Given the description of an element on the screen output the (x, y) to click on. 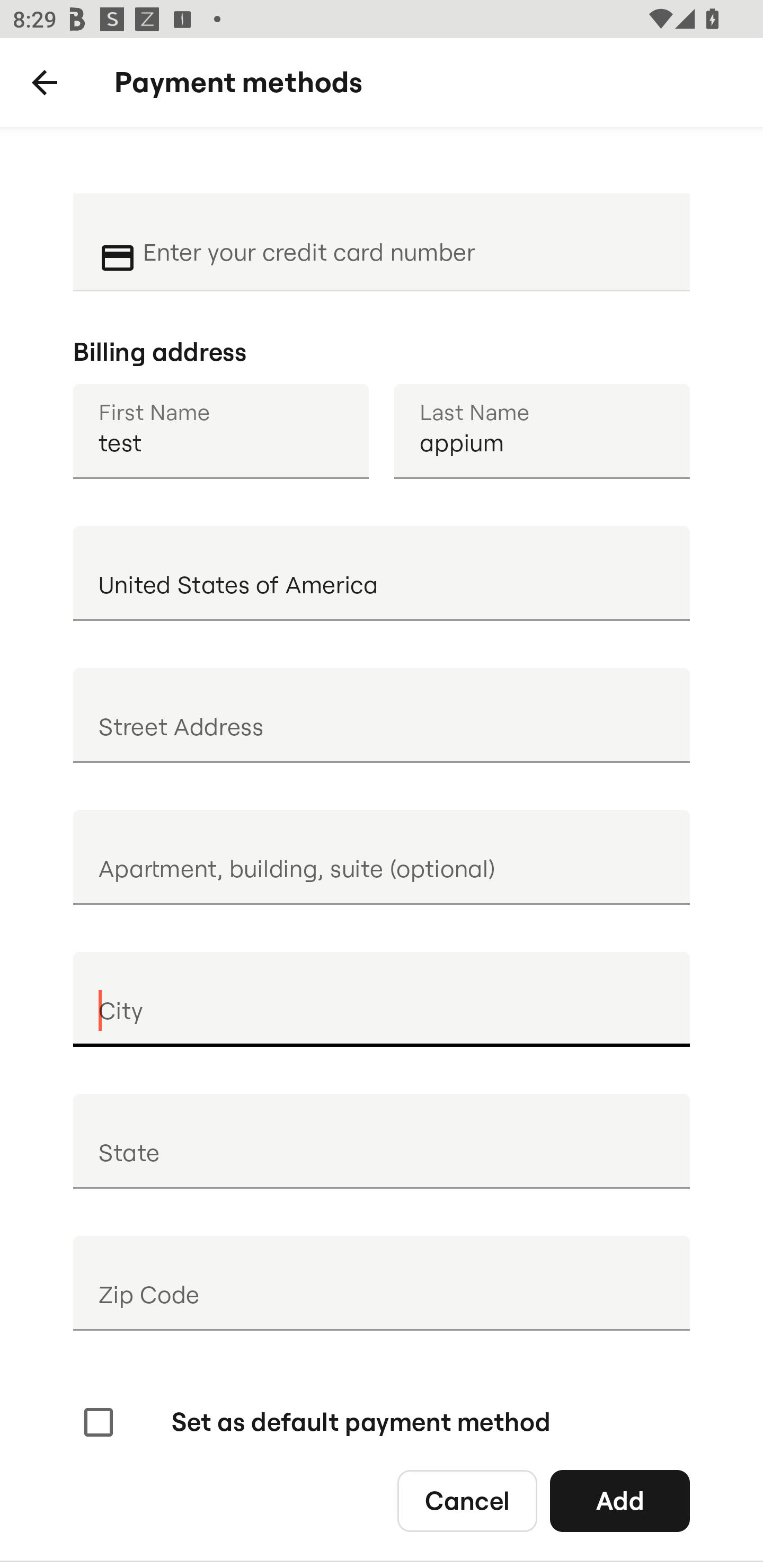
Back (44, 82)
Enter your credit card number (403, 240)
test (220, 431)
appium (541, 431)
United States of America (381, 572)
Street Address (381, 714)
Apartment, building, suite (optional) (381, 857)
City (381, 999)
State (381, 1141)
Zip Code (381, 1283)
Set as default payment method (314, 1421)
Cancel (467, 1500)
Add (619, 1500)
